Given the description of an element on the screen output the (x, y) to click on. 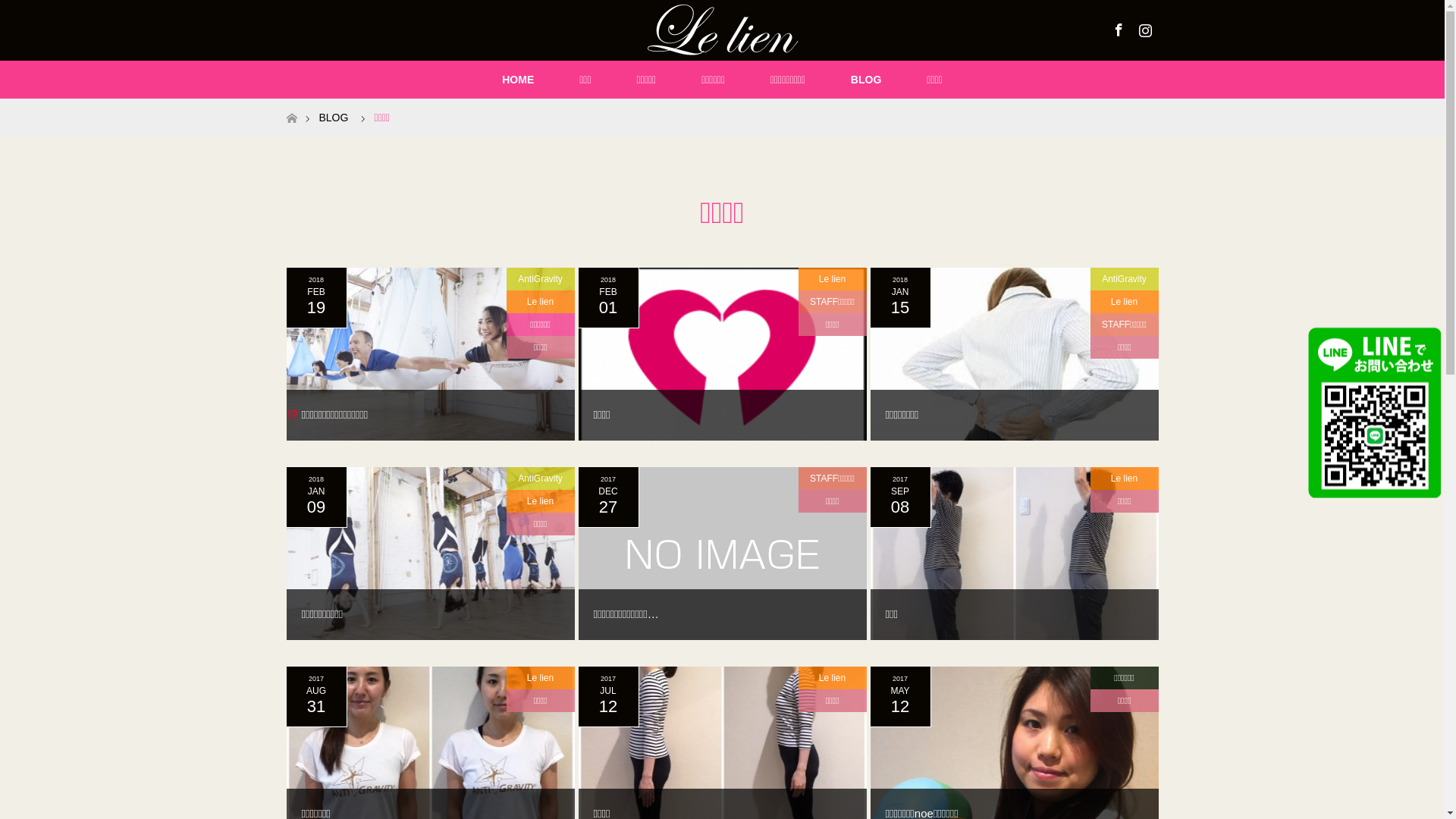
AntiGravity Element type: text (1124, 278)
Le lien Element type: text (540, 500)
Le lien Element type: text (540, 677)
Le lien Element type: text (831, 278)
AntiGravity Element type: text (540, 478)
Le lien Element type: text (831, 677)
Facebook Element type: text (1116, 26)
Le lien Element type: text (540, 301)
Le lien Element type: text (1124, 301)
AntiGravity Element type: text (540, 278)
Instagram Element type: text (1142, 26)
Le lien Element type: text (1124, 478)
BLOG Element type: text (333, 117)
HOME Element type: text (517, 79)
BLOG Element type: text (865, 79)
